Given the description of an element on the screen output the (x, y) to click on. 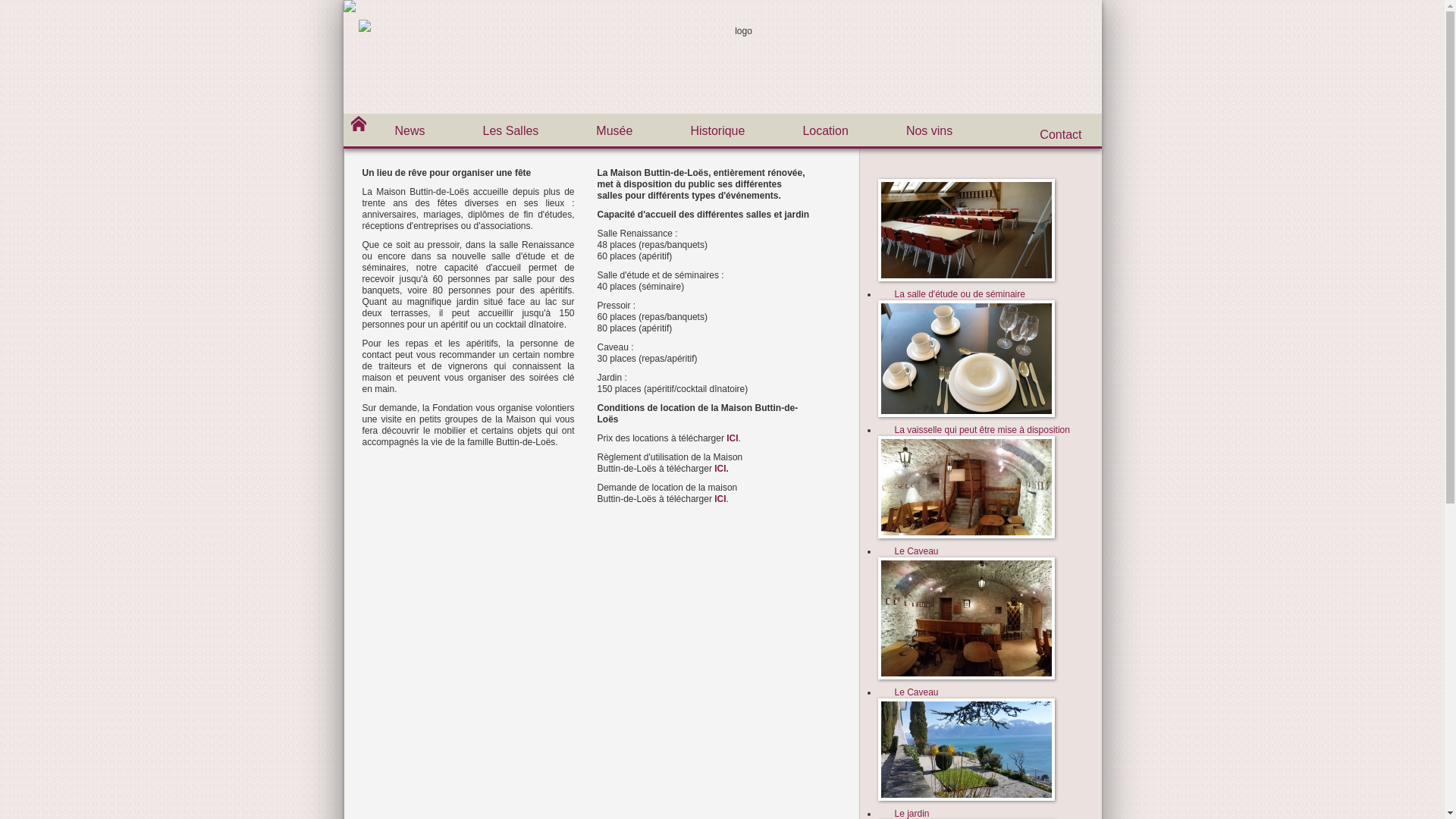
ICI Element type: text (719, 498)
Historique Element type: text (717, 131)
Le Caveau Element type: hover (980, 487)
Le Caveau Element type: hover (980, 618)
ICI Element type: text (719, 468)
Le jardin  Element type: hover (980, 749)
Contact Element type: text (1060, 134)
News Element type: text (409, 131)
. Element type: text (727, 468)
ICI Element type: text (731, 438)
Les Salles Element type: text (511, 131)
Nos vins Element type: text (929, 131)
Location Element type: text (825, 131)
